Given the description of an element on the screen output the (x, y) to click on. 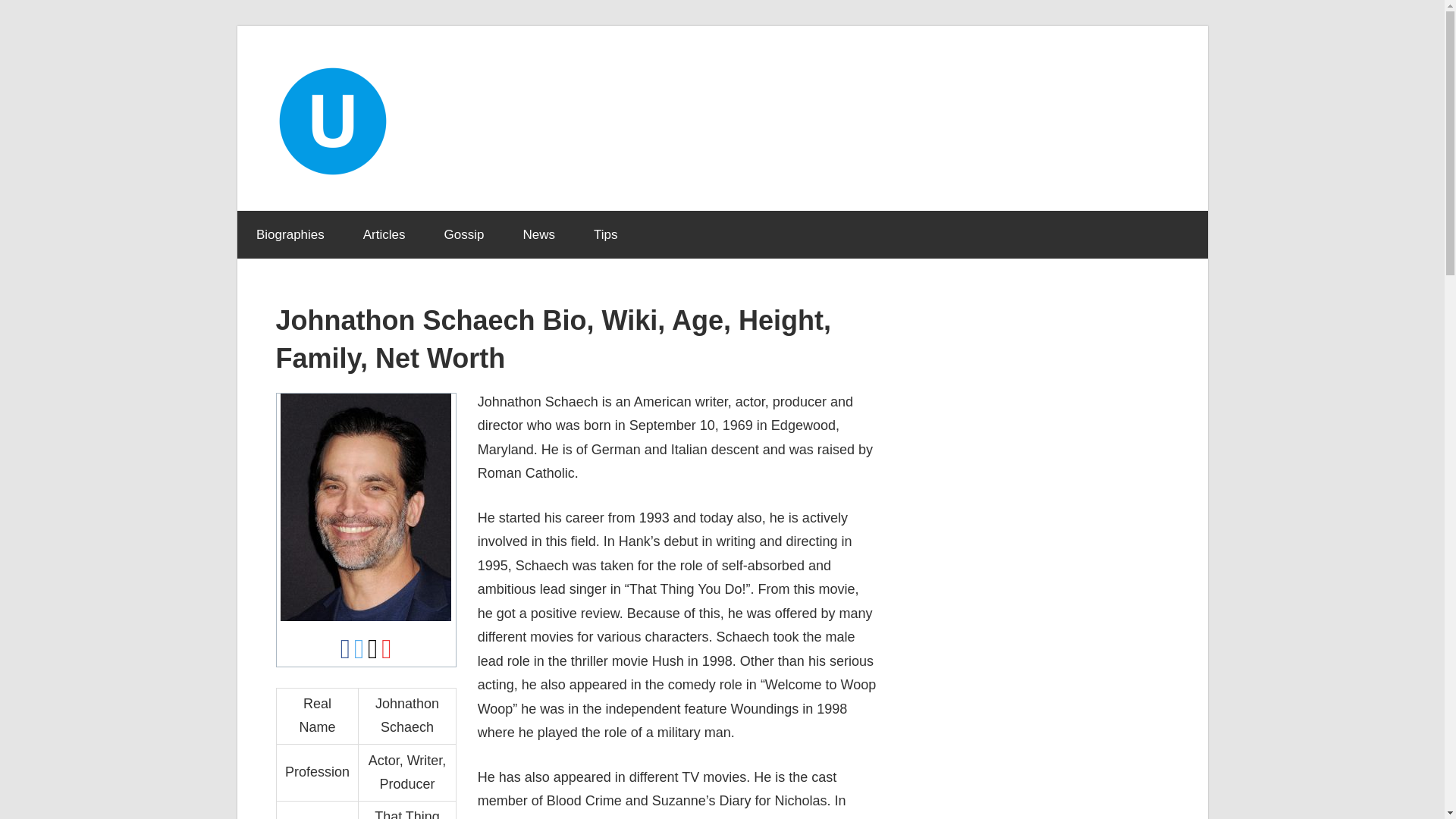
Gossip (464, 234)
Tips (605, 234)
News (539, 234)
Biographies (289, 234)
Articles (384, 234)
